Given the description of an element on the screen output the (x, y) to click on. 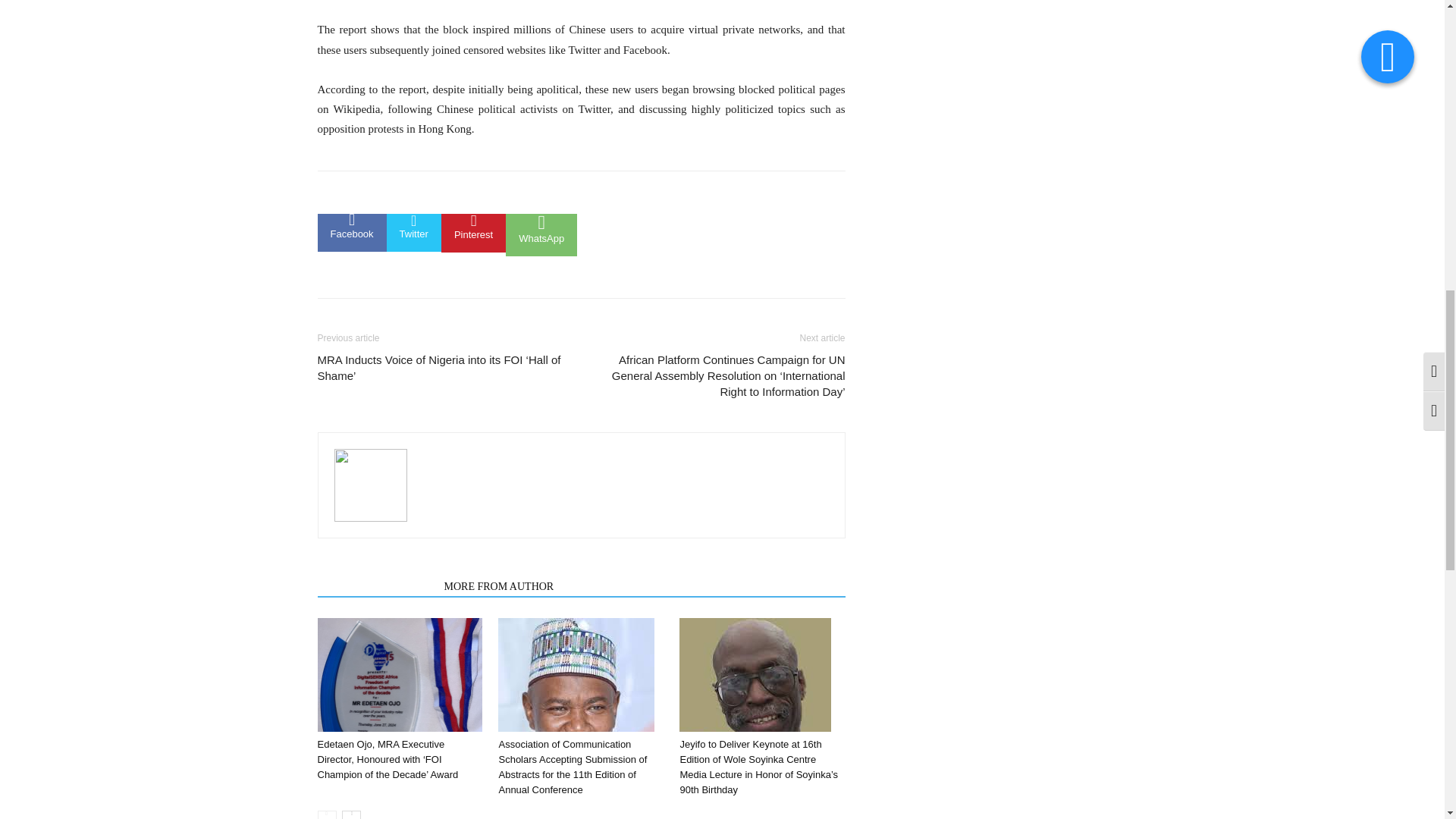
bottomFacebookLike (430, 195)
